Given the description of an element on the screen output the (x, y) to click on. 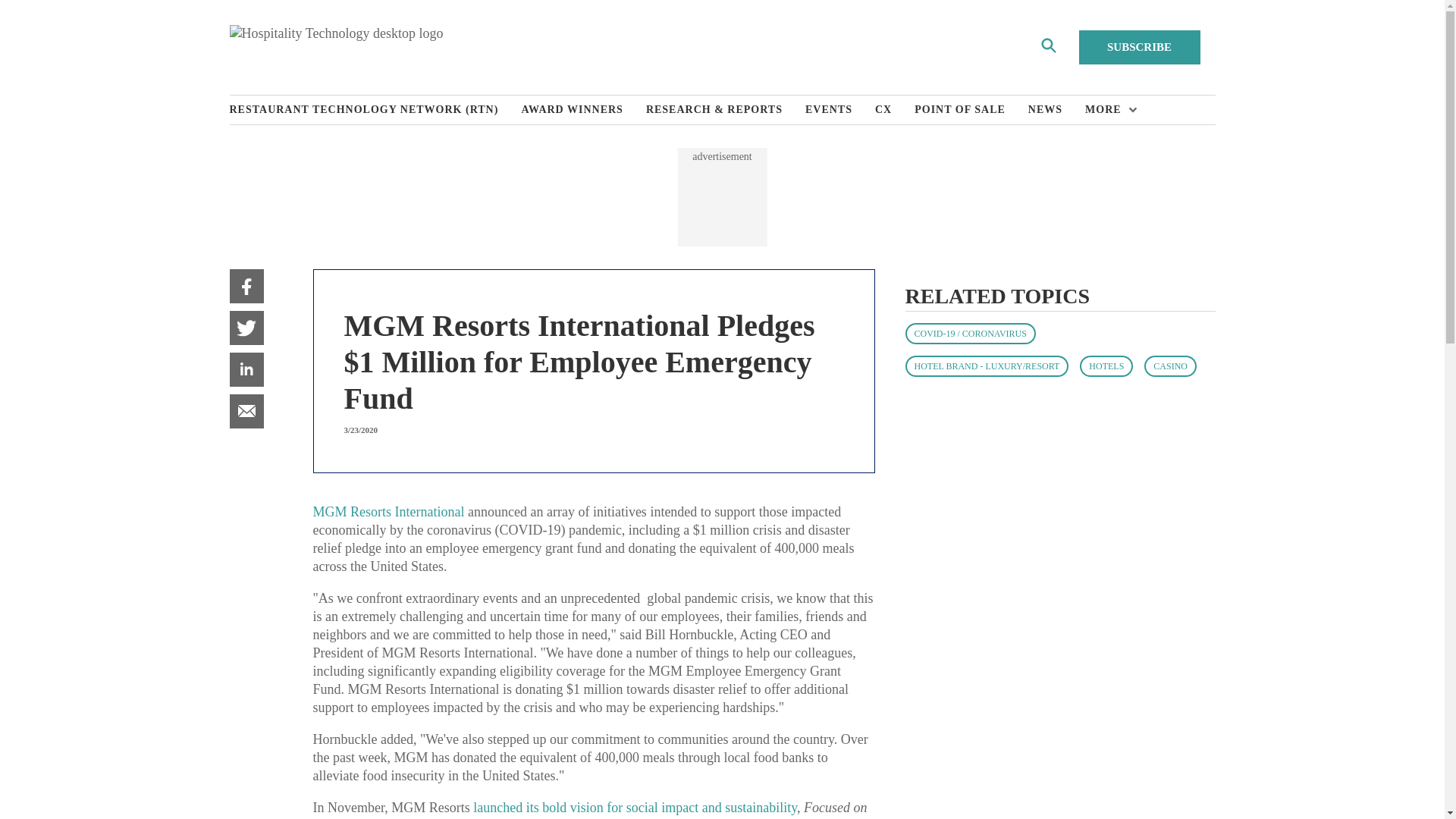
AWARD WINNERS (583, 109)
CX (894, 109)
HOTELS (1106, 365)
facebook (245, 286)
email (245, 410)
email (245, 410)
twitter (245, 327)
CASINO (1170, 365)
MORE (1106, 109)
